Given the description of an element on the screen output the (x, y) to click on. 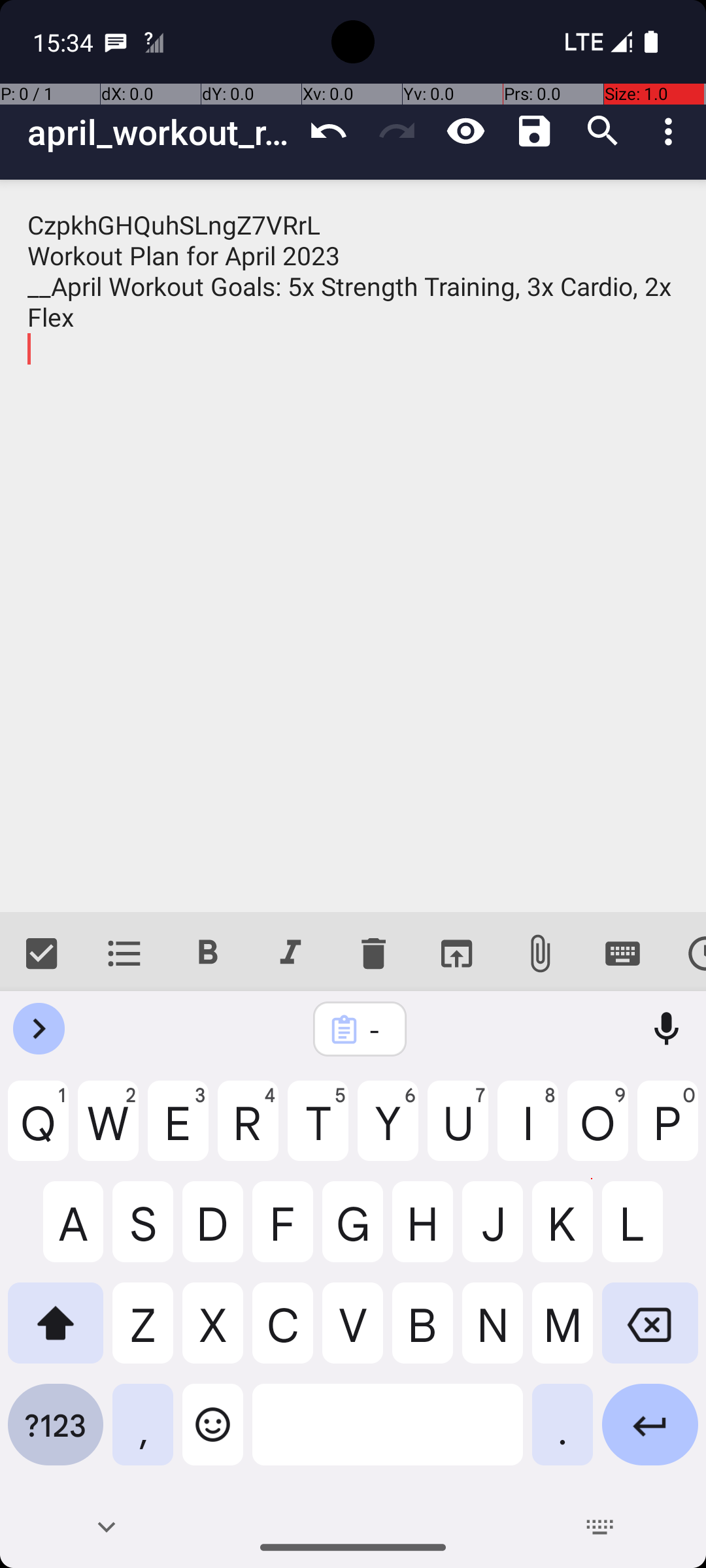
april_workout_routine_2023_01_01 Element type: android.widget.TextView (160, 131)
CzpkhGHQuhSLngZ7VRrL
Workout Plan for April 2023
__April Workout Goals: 5x Strength Training, 3x Cardio, 2x Flex
 Element type: android.widget.EditText (353, 545)
